Given the description of an element on the screen output the (x, y) to click on. 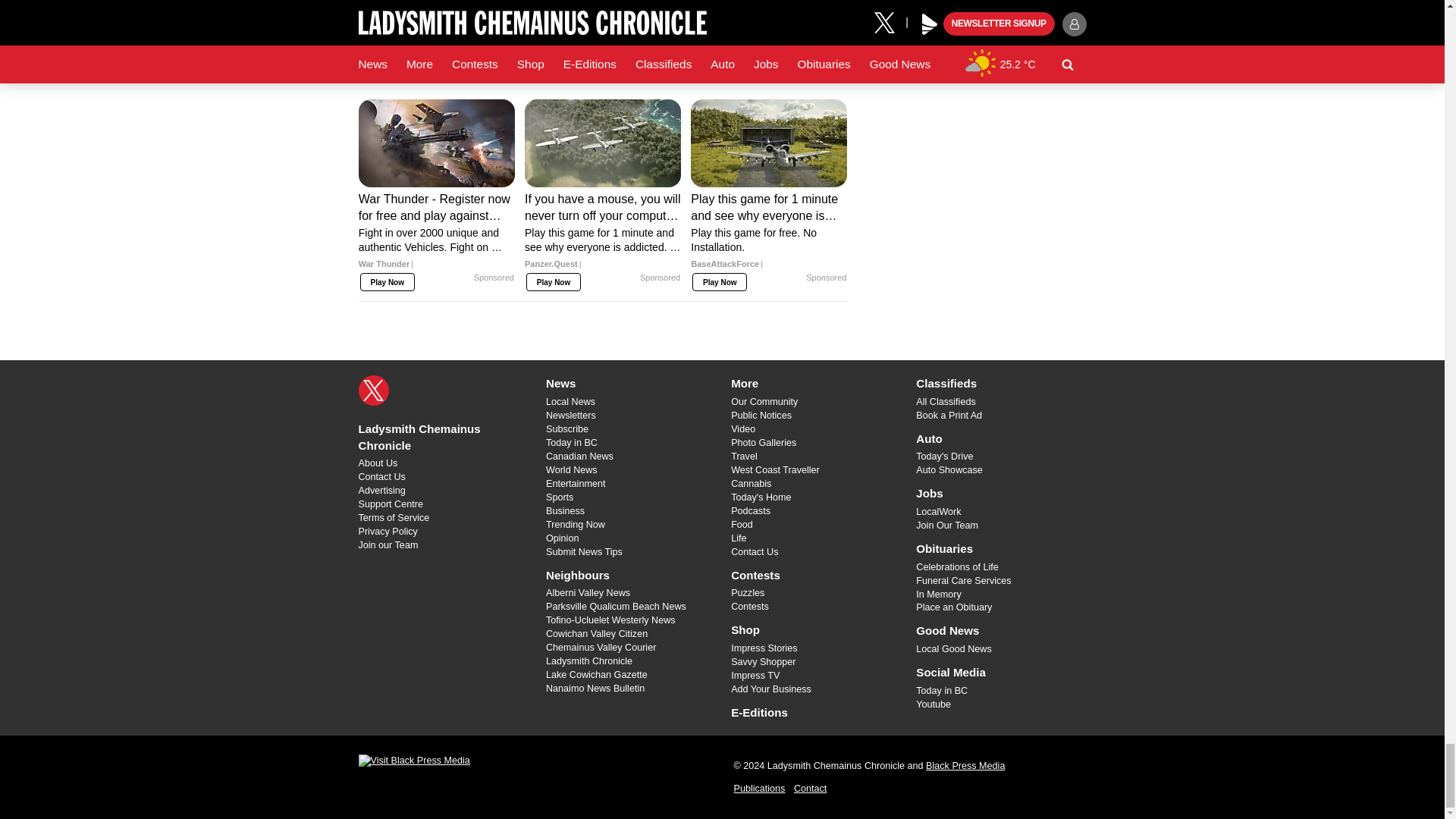
Web Apps vs. Cloud Apps: Pros and Cons for Business Use (436, 15)
I Landed My Dream Job with Ease (602, 29)
